Given the description of an element on the screen output the (x, y) to click on. 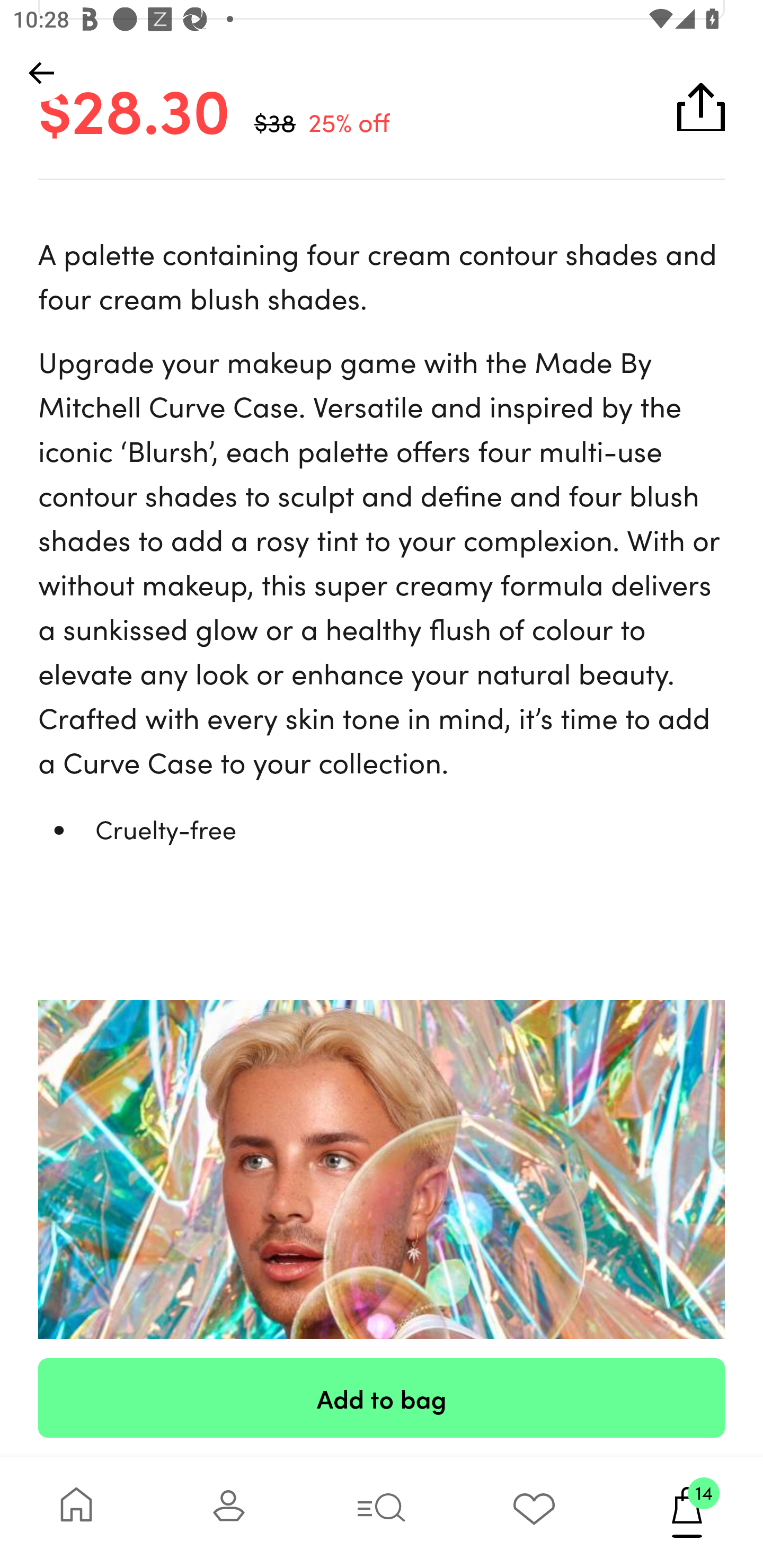
Add to bag (381, 1397)
14 (686, 1512)
